Given the description of an element on the screen output the (x, y) to click on. 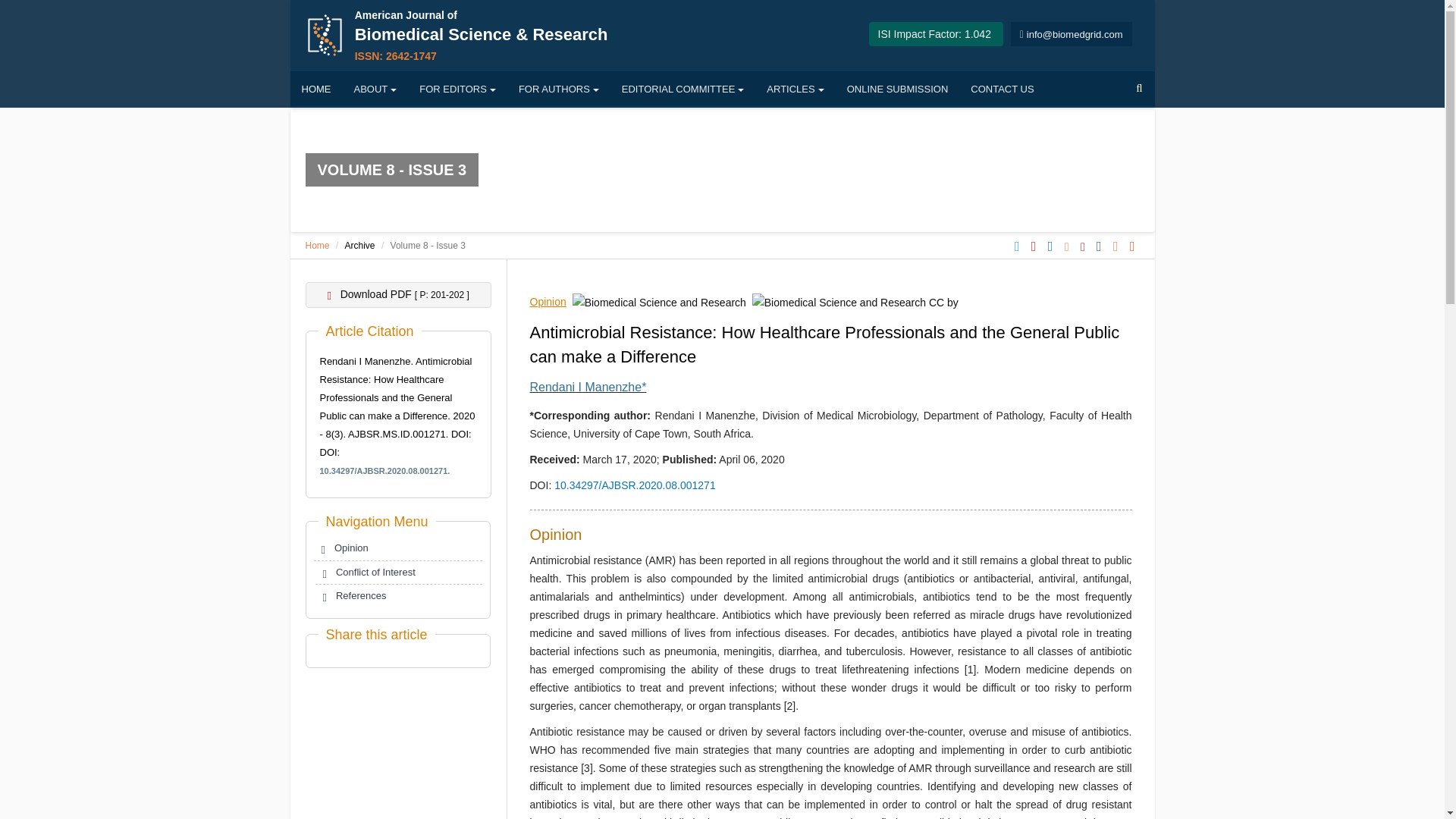
EDITORIAL COMMITTEE (682, 89)
ISI Impact Factor: 1.042 (934, 33)
FOR EDITORS (456, 89)
ARTICLES (794, 89)
CONTACT US (397, 572)
FOR AUTHORS (1002, 89)
Rendani I Manenzhe (558, 89)
Home (587, 386)
ONLINE SUBMISSION (316, 245)
